Given the description of an element on the screen output the (x, y) to click on. 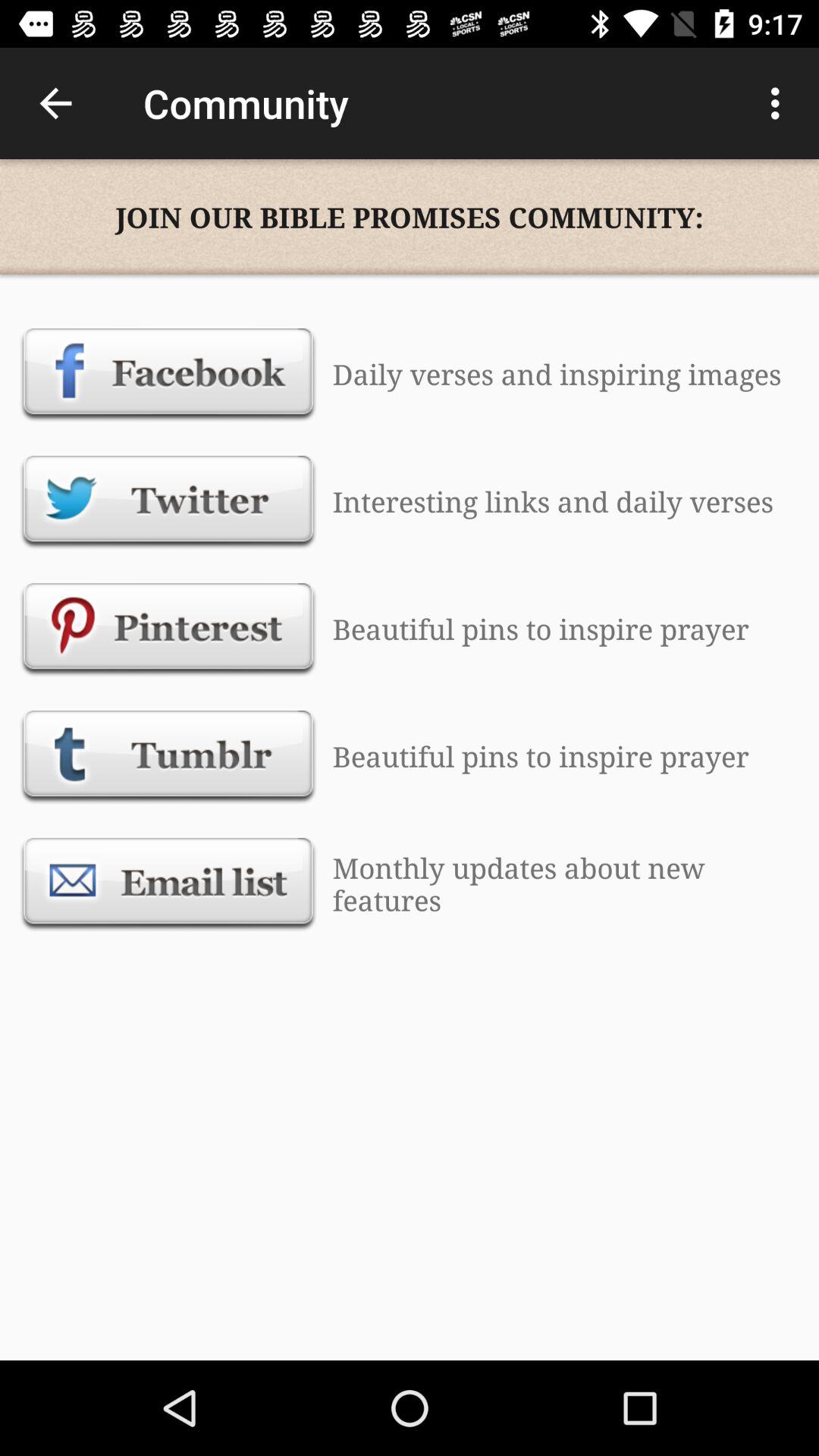
subscribe email notifications (167, 883)
